Given the description of an element on the screen output the (x, y) to click on. 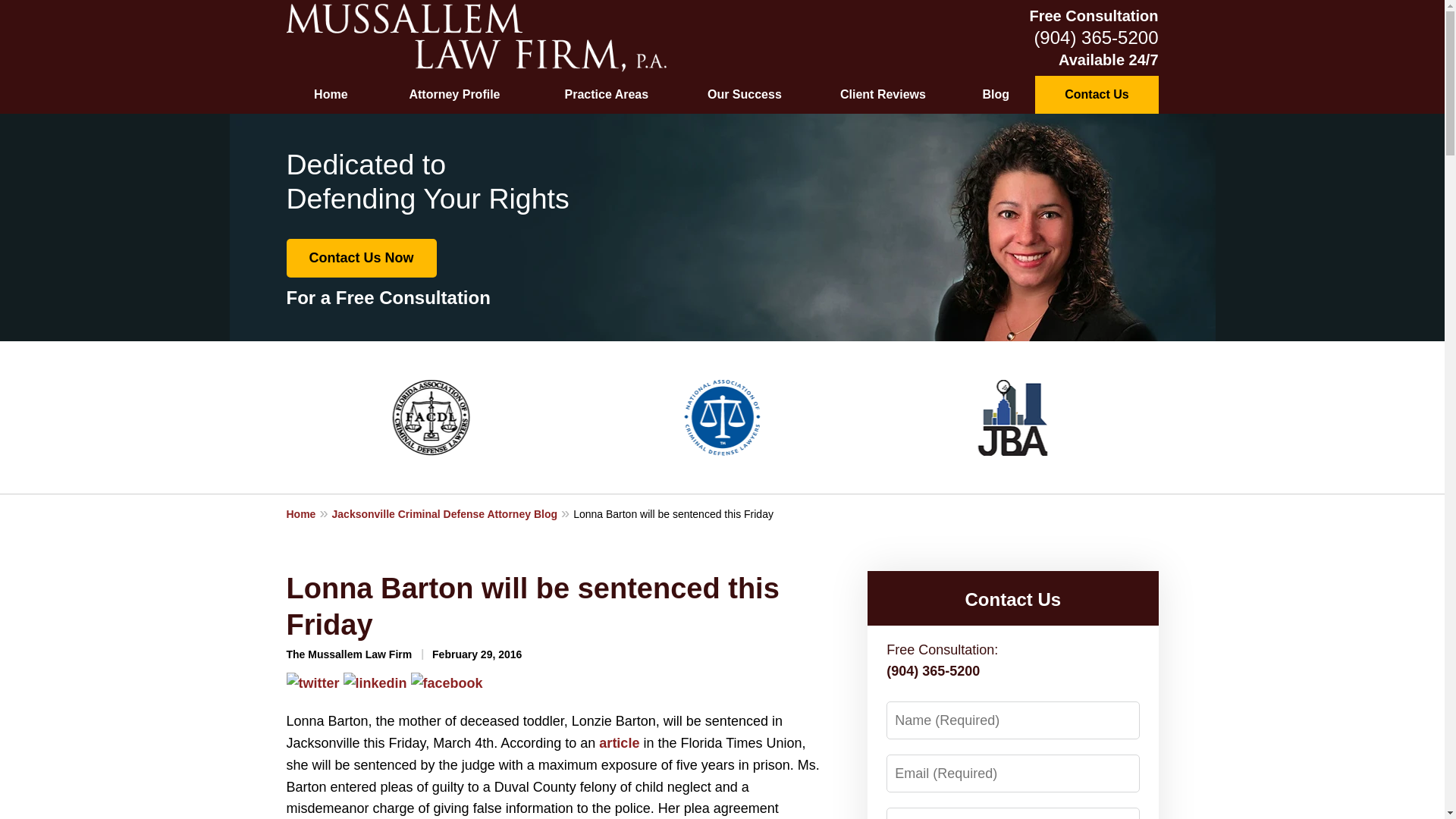
Jacksonville Criminal Defense Attorney Blog (452, 513)
Attorney Profile (454, 94)
Practice Areas (606, 94)
Home (308, 513)
Our Success (744, 94)
Contact Us (1096, 94)
Blog (995, 94)
Home (330, 94)
Client Reviews (882, 94)
Contact Us (1012, 598)
